Given the description of an element on the screen output the (x, y) to click on. 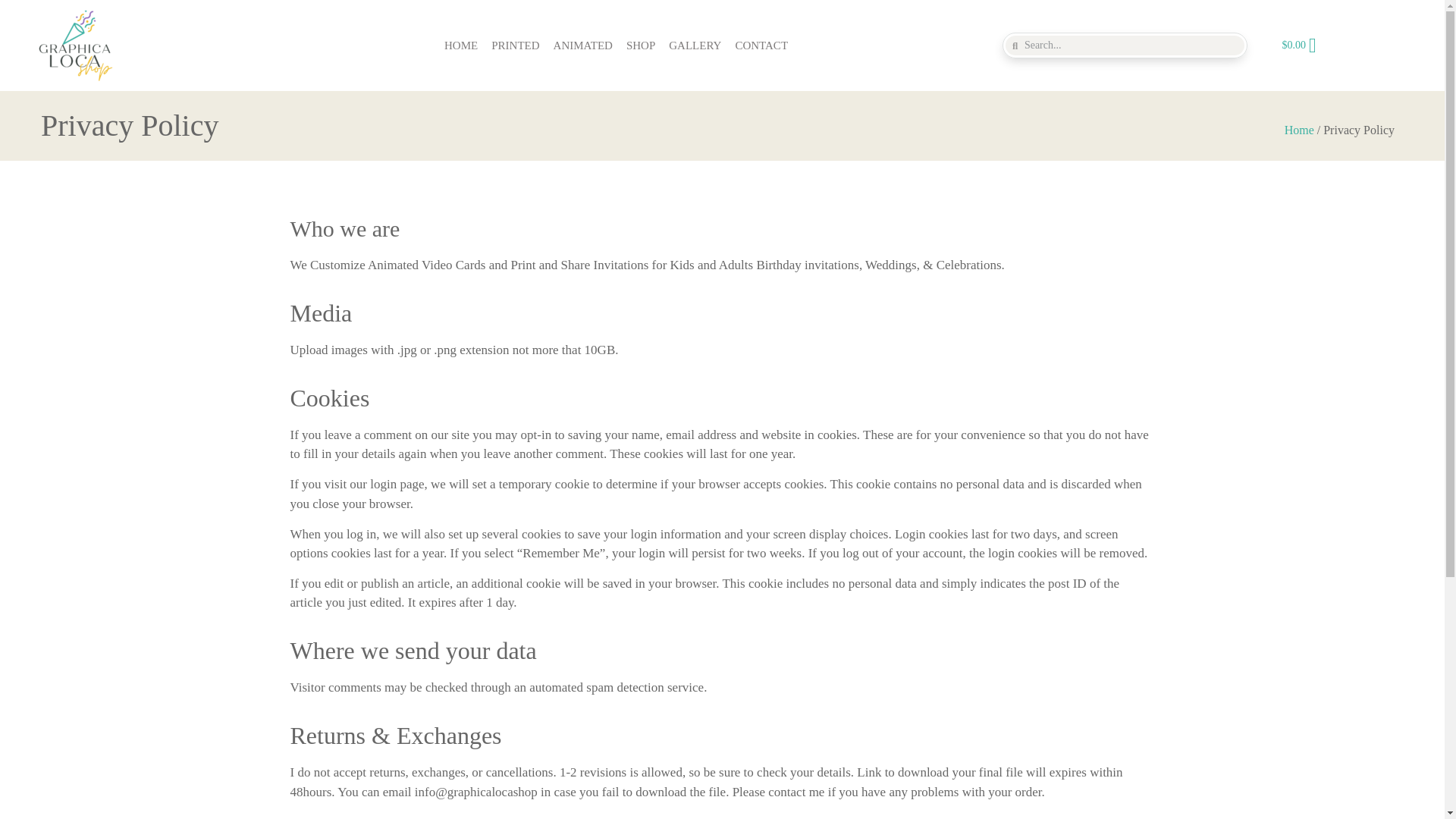
ANIMATED (583, 45)
SHOP (641, 45)
CONTACT (761, 45)
HOME (461, 45)
Home (1299, 129)
GALLERY (695, 45)
PRINTED (515, 45)
